Given the description of an element on the screen output the (x, y) to click on. 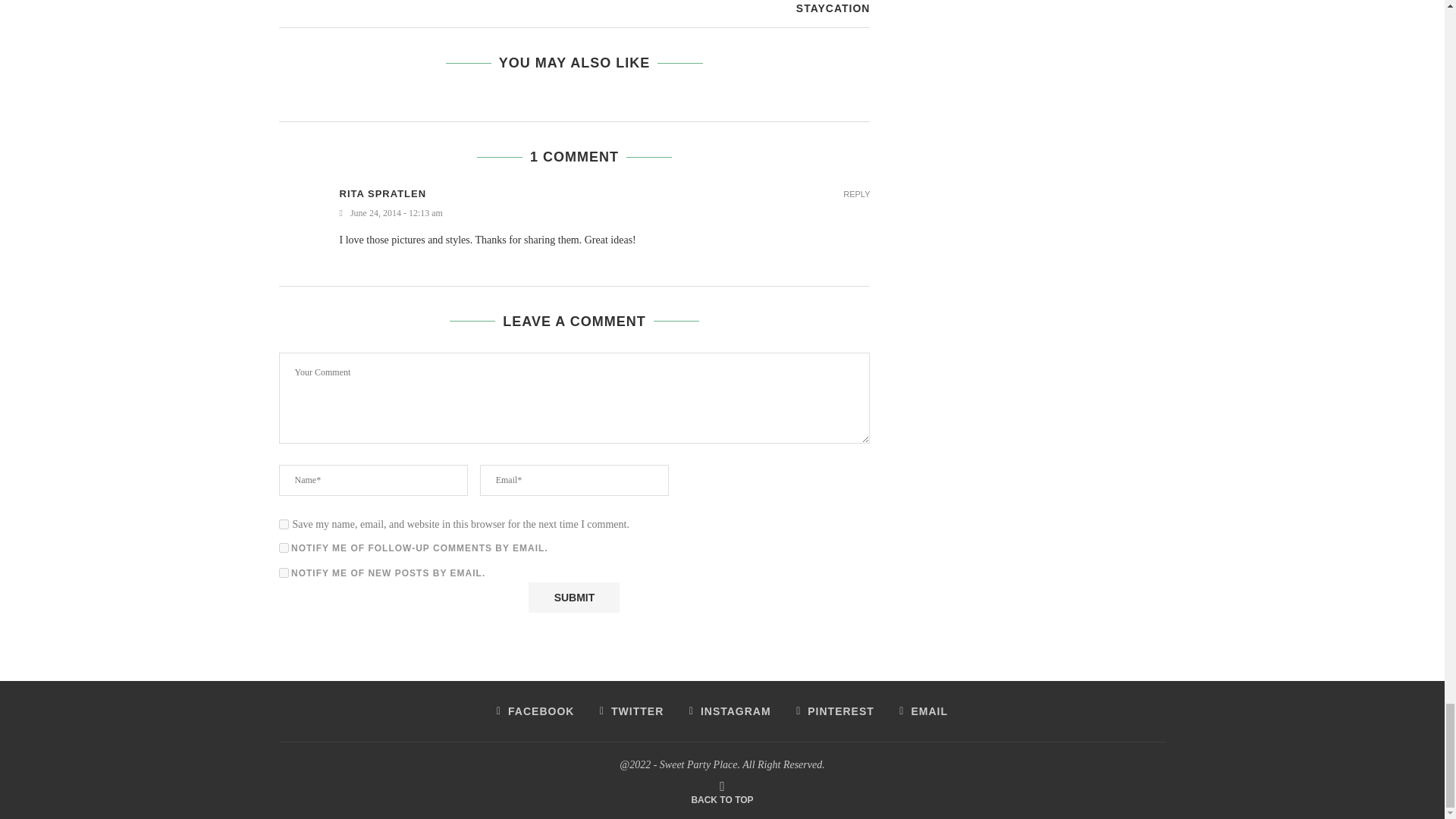
yes (283, 524)
Submit (574, 597)
subscribe (283, 573)
subscribe (283, 547)
Tuesday, June 24, 2014, 12:13 am (604, 213)
